Given the description of an element on the screen output the (x, y) to click on. 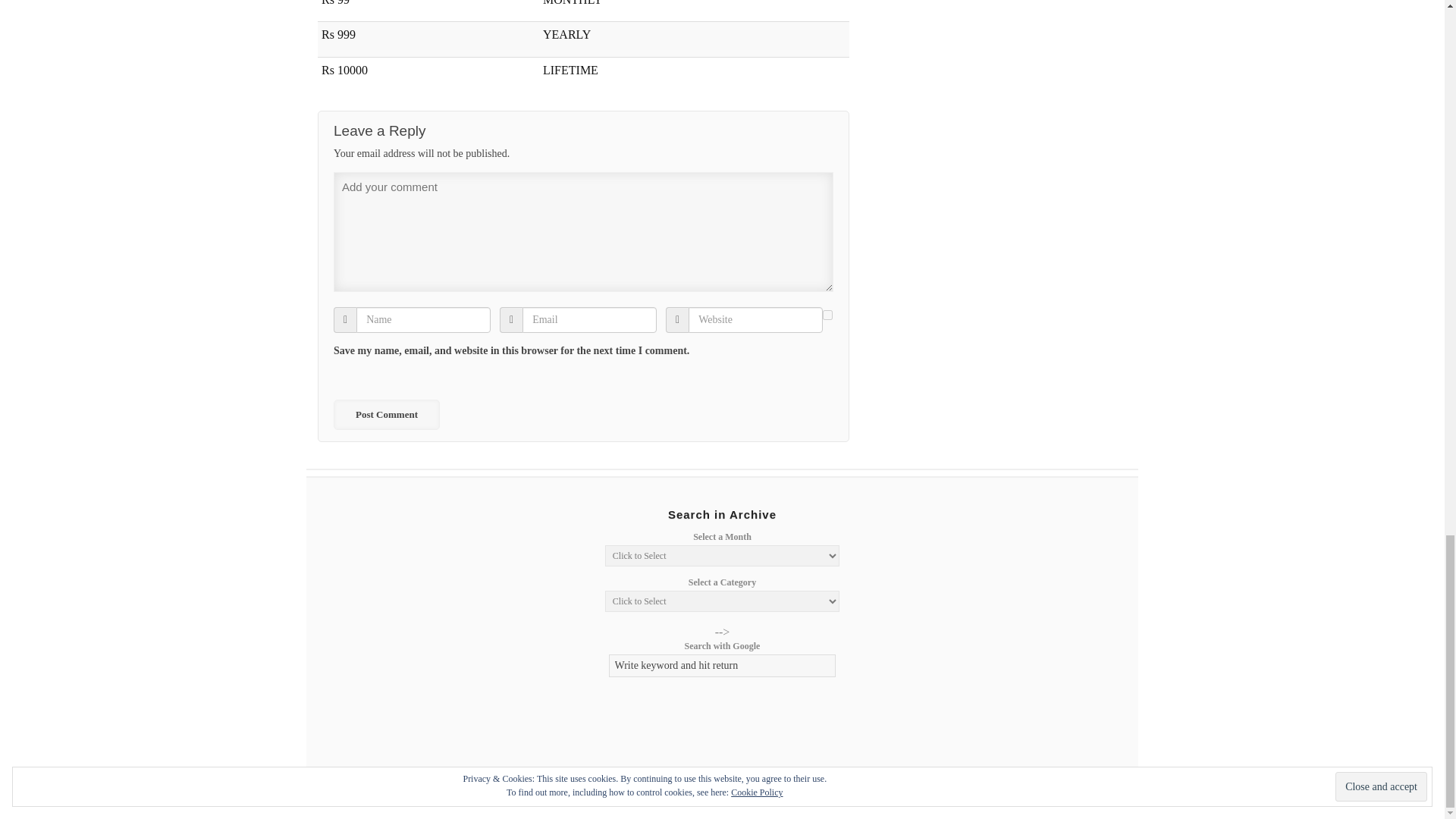
Kashmir Reader (381, 790)
Semantic Personal Publishing Platform (1017, 790)
Write keyword and hit return (721, 665)
Post Comment (386, 414)
yes (827, 315)
